Given the description of an element on the screen output the (x, y) to click on. 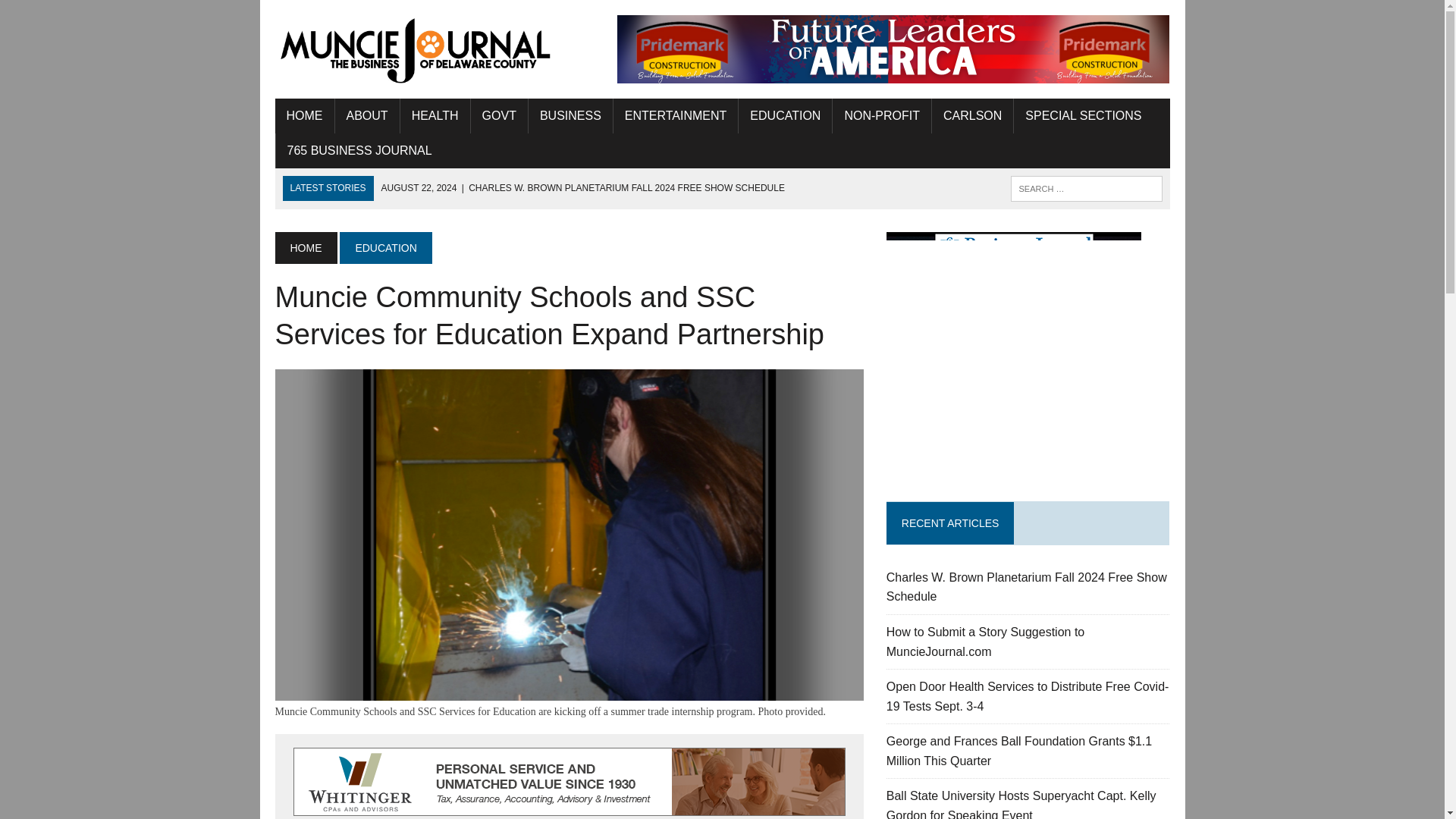
Muncie Journal (416, 49)
Charles W. Brown Planetarium  Fall 2024 Free Show Schedule (582, 187)
NON-PROFIT (881, 115)
ABOUT (366, 115)
Govt (498, 115)
HOME (304, 115)
SPECIAL SECTIONS (1083, 115)
EDUCATION (784, 115)
HEALTH (435, 115)
GOVT (498, 115)
